Given the description of an element on the screen output the (x, y) to click on. 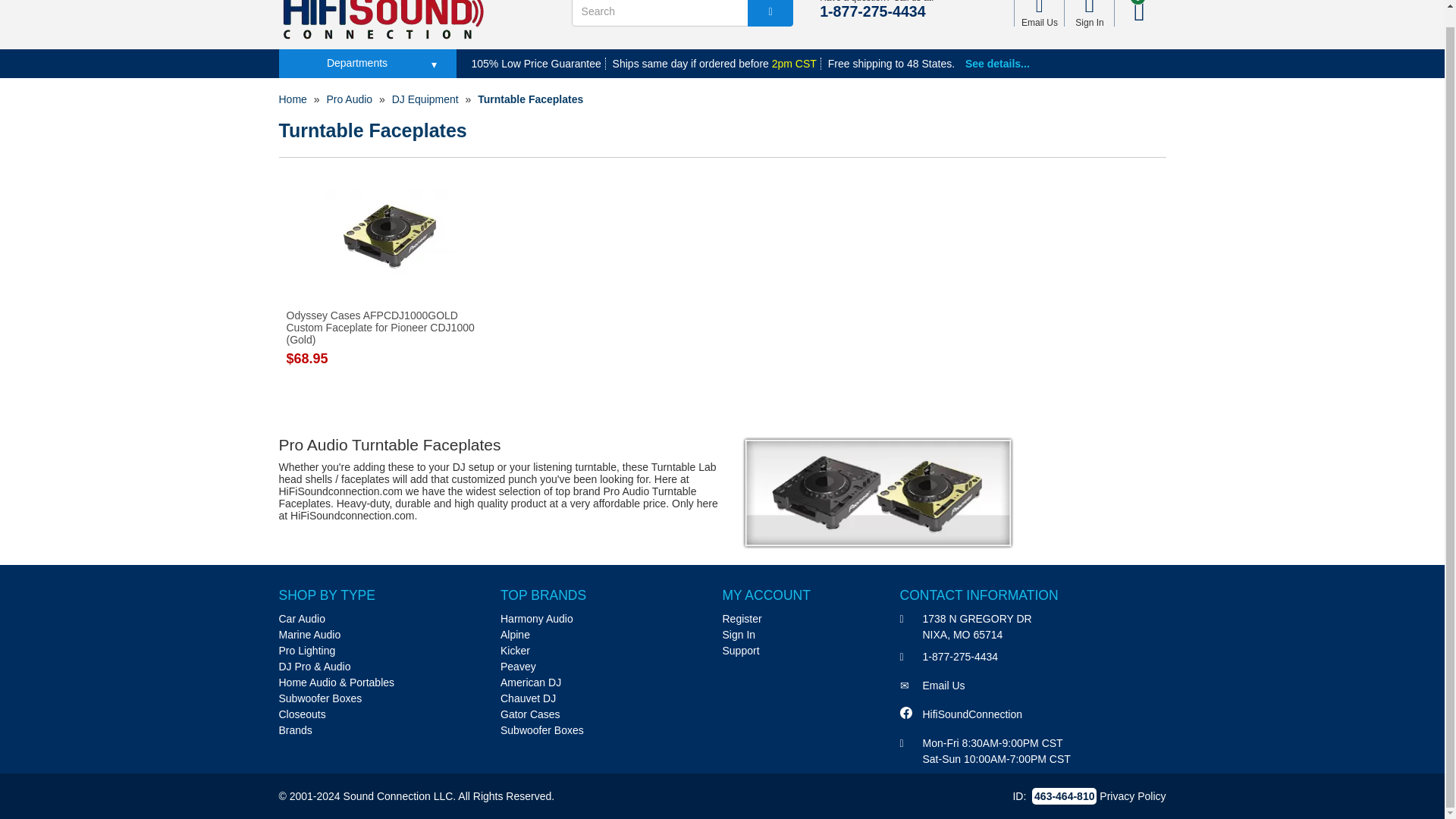
Harmony Audio (536, 618)
Register (741, 618)
Peavey (517, 665)
View Cart (1138, 13)
See details... (997, 63)
Subwoofer Boxes (320, 697)
Car Audio (301, 618)
Kicker (514, 650)
0 (1138, 13)
Pro Lighting (307, 650)
American DJ (530, 682)
Marine Audio (309, 633)
Closeouts (302, 714)
category description (722, 484)
Sign In (1088, 13)
